Given the description of an element on the screen output the (x, y) to click on. 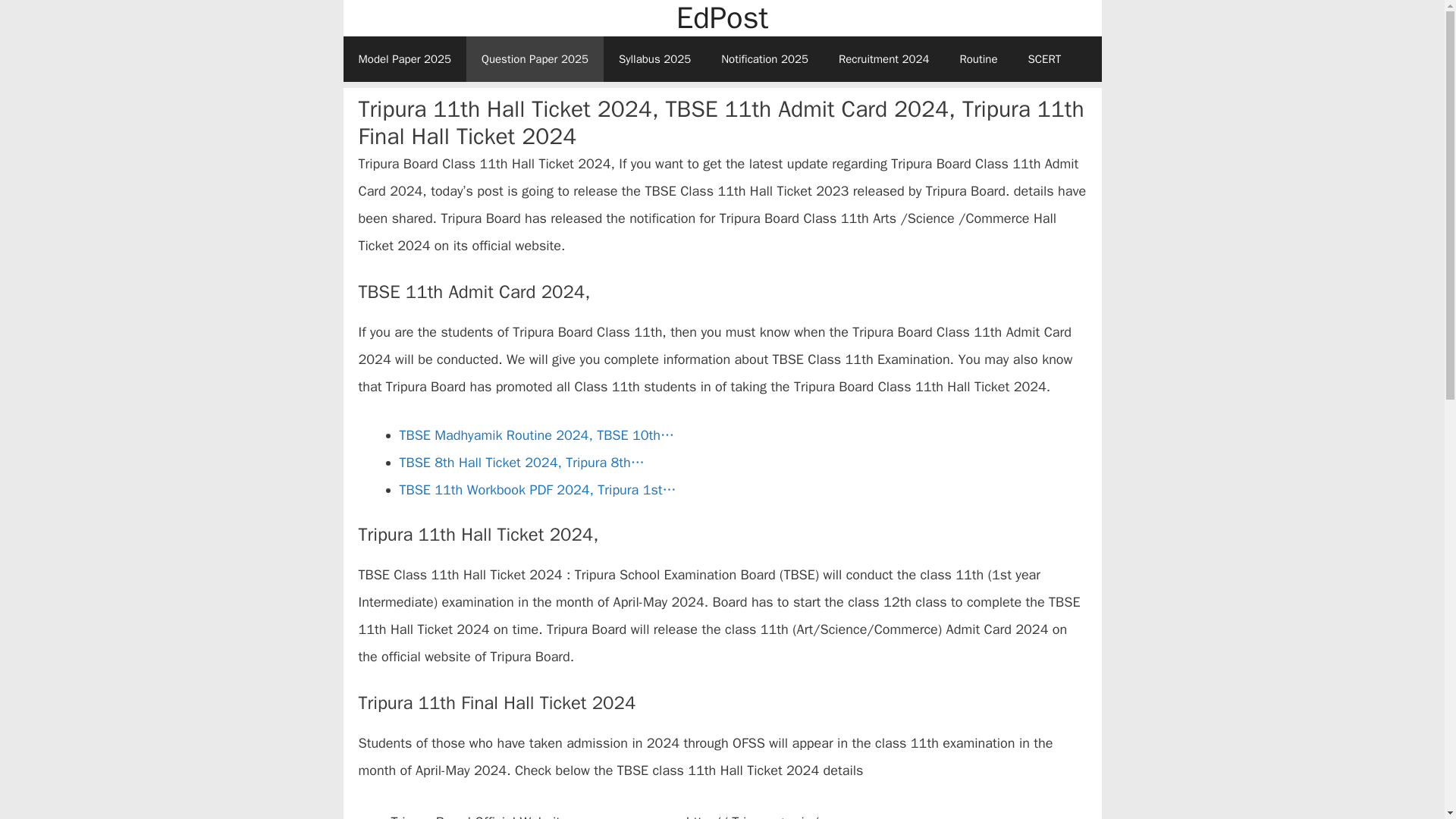
Notification 2025 (765, 58)
Question Paper 2025 (534, 58)
Recruitment 2024 (884, 58)
Routine (977, 58)
Model Paper 2025 (403, 58)
SCERT (1045, 58)
EdPost (722, 18)
Syllabus 2025 (655, 58)
